Given the description of an element on the screen output the (x, y) to click on. 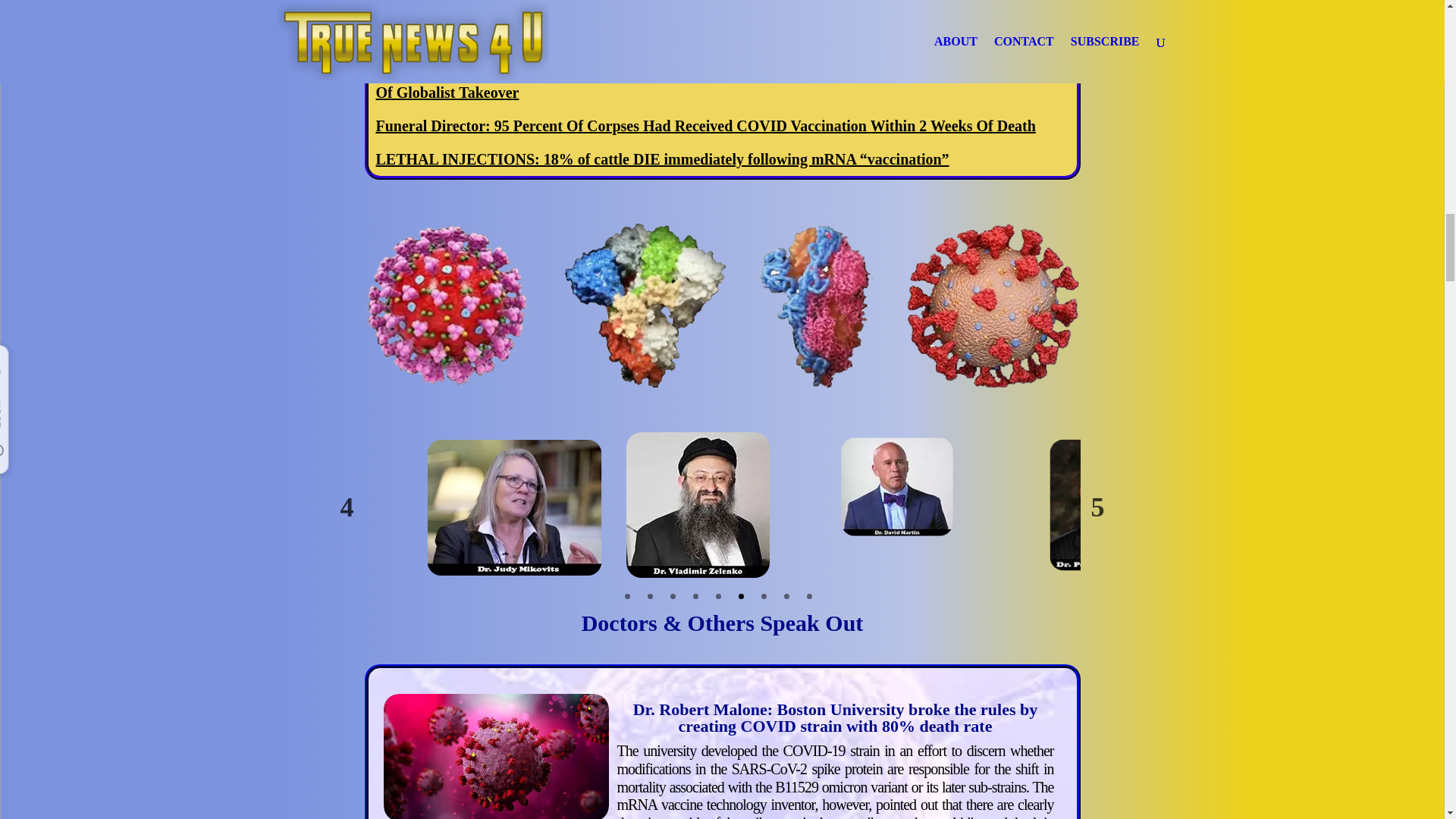
Previous (347, 506)
Dr. Judy Mikovits 2 inch high (523, 514)
Dr. Vladimir Zelenko 2 inch high (698, 505)
Dr. David Martin 2 inch high (903, 492)
Dr. PETER MCCULLOUGH 2 inch high (1114, 511)
Next (1098, 506)
COVID Spike Protein Divider (722, 305)
